Given the description of an element on the screen output the (x, y) to click on. 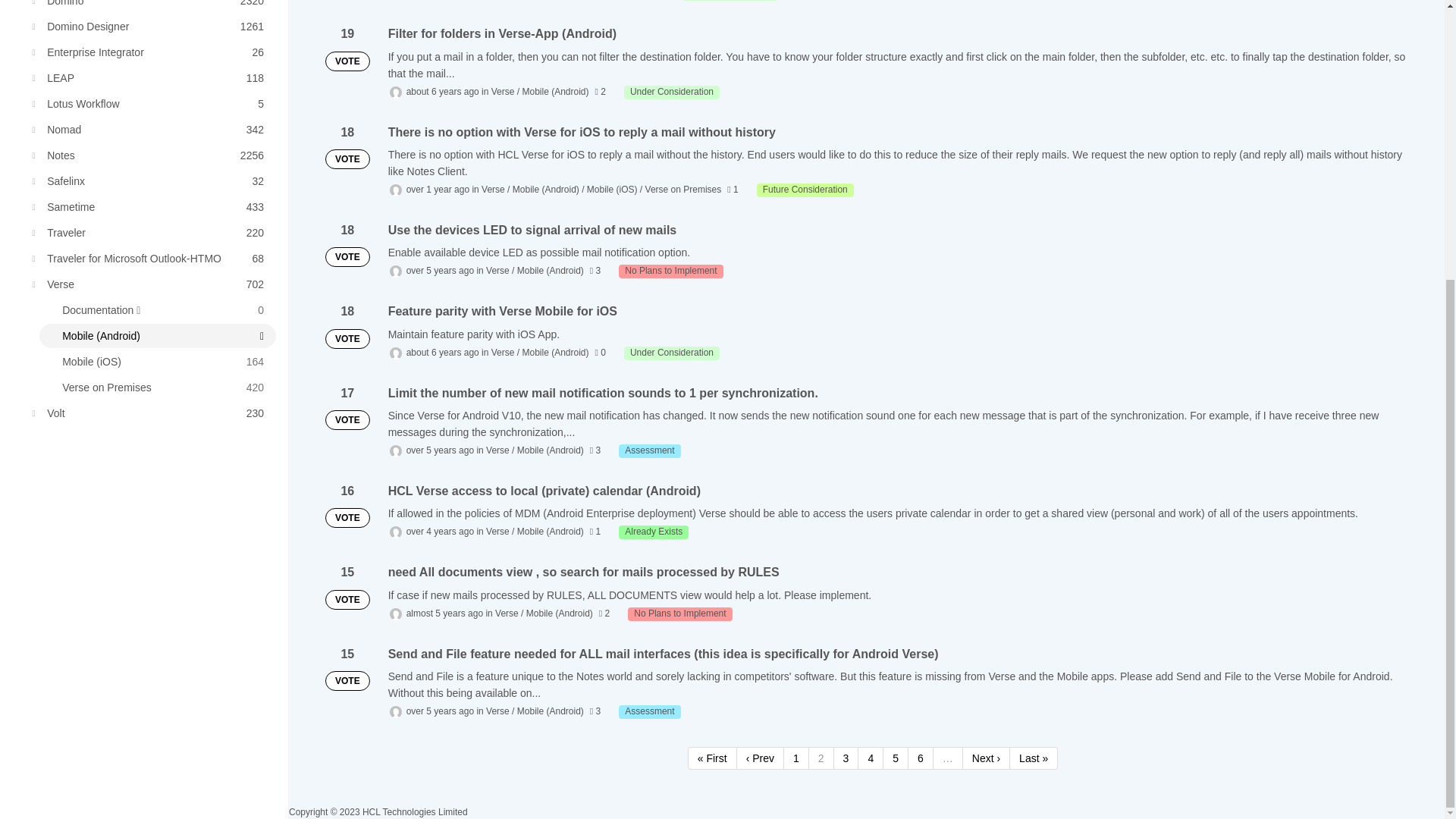
Under Consideration (150, 103)
Assessment (671, 92)
Under Consideration (150, 129)
No Plans to Implement (648, 712)
Assessment (150, 78)
No Plans to Implement (679, 613)
Under Consideration (805, 190)
Already Exists (648, 450)
